Given the description of an element on the screen output the (x, y) to click on. 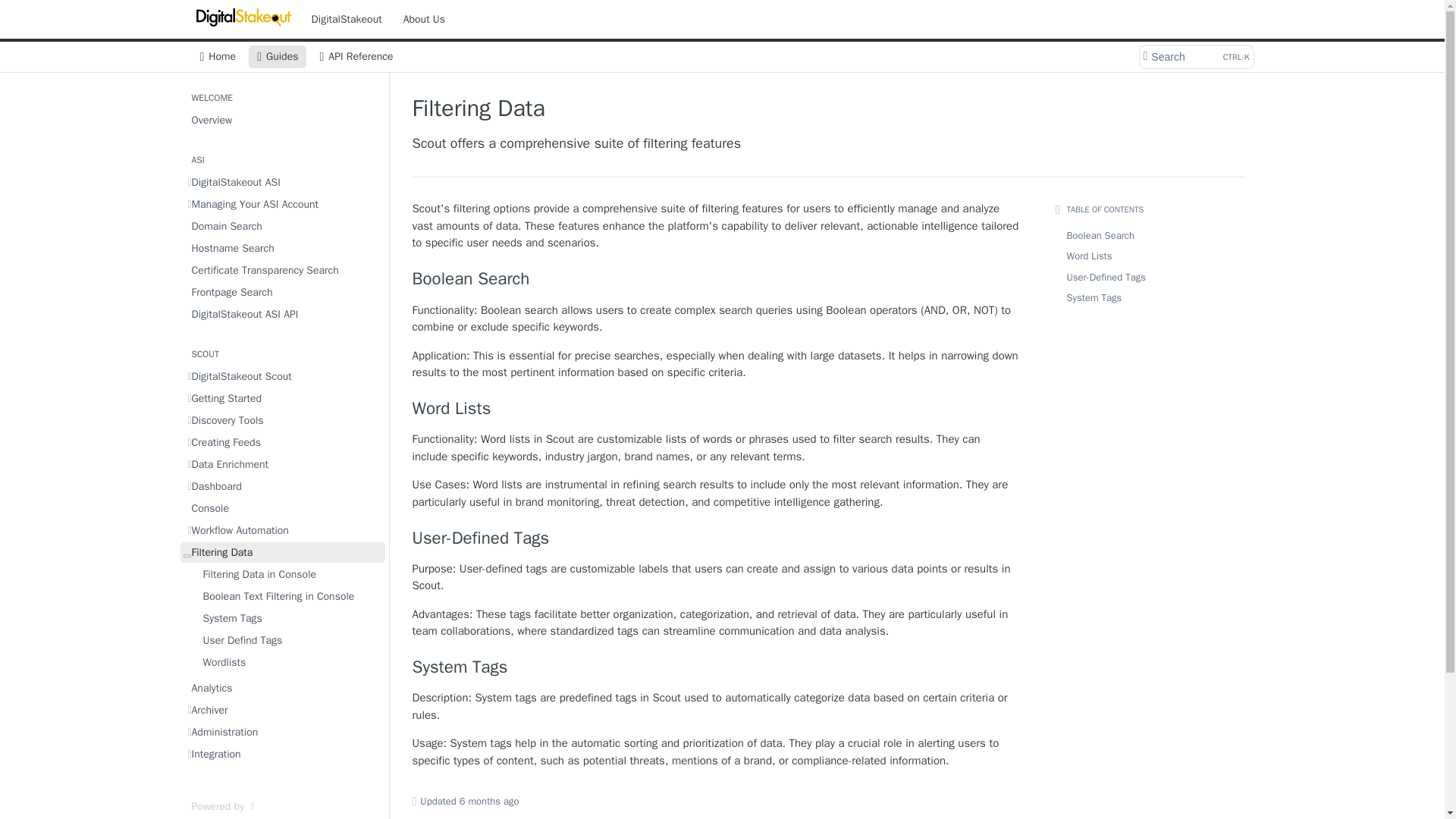
DigitalStakeout ASI (282, 181)
Overview (1195, 56)
Boolean Search (282, 119)
Word Lists (715, 278)
Frontpage Search (715, 408)
DigitalStakeout (282, 291)
Hostname Search (346, 18)
API Reference (282, 248)
DigitalStakeout ASI API (356, 56)
Getting Started (282, 313)
DigitalStakeout Scout (282, 398)
Home (282, 376)
System Tags (217, 56)
Guides (715, 667)
